Given the description of an element on the screen output the (x, y) to click on. 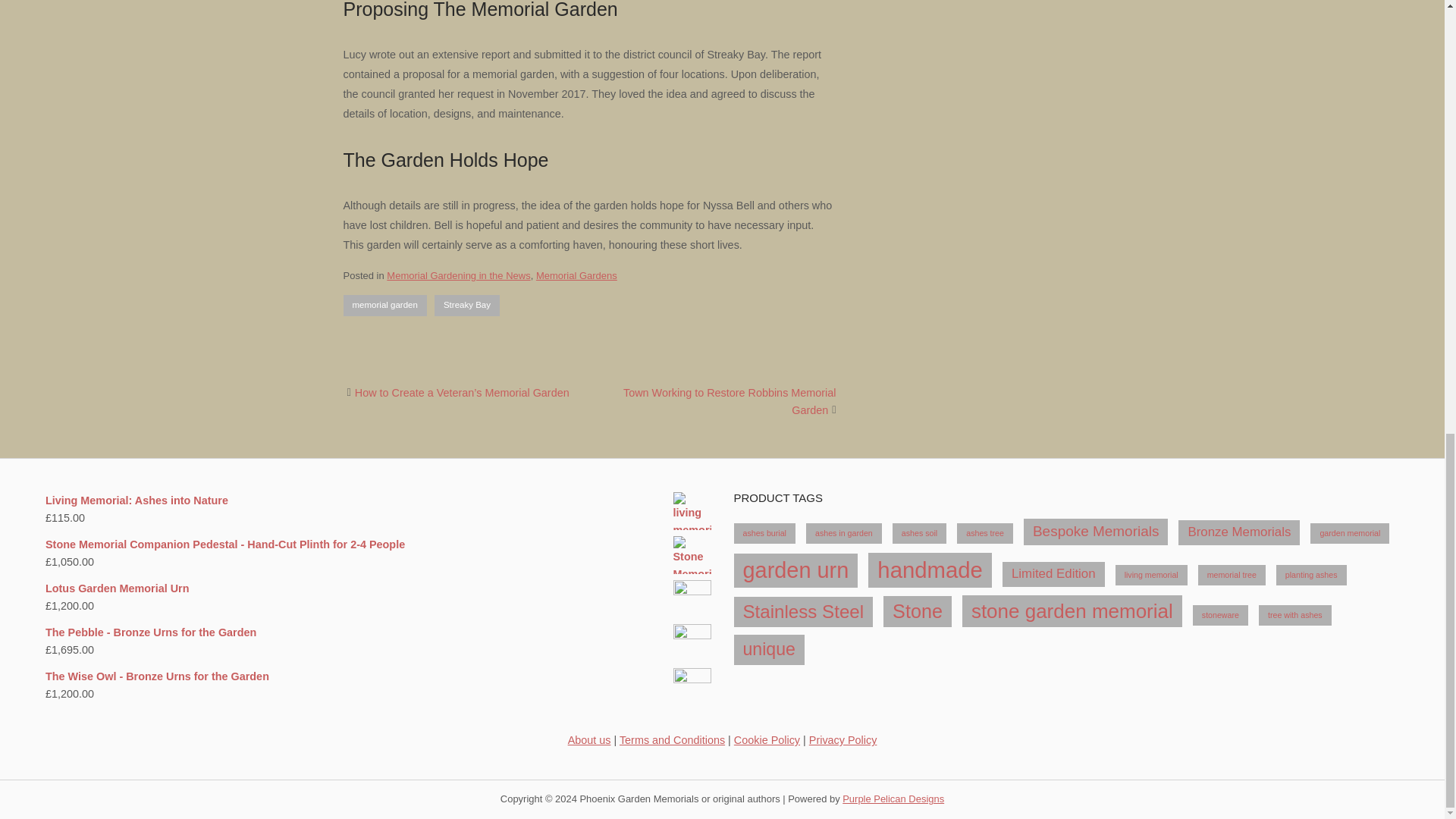
Lotus Garden Memorial Urn (378, 588)
Town Working to Restore Robbins Memorial Garden (729, 401)
Living Memorial: Ashes into Nature (378, 500)
memorial garden (384, 305)
Memorial Gardening in the News (458, 275)
Memorial Gardens (576, 275)
Streaky Bay (466, 305)
